Given the description of an element on the screen output the (x, y) to click on. 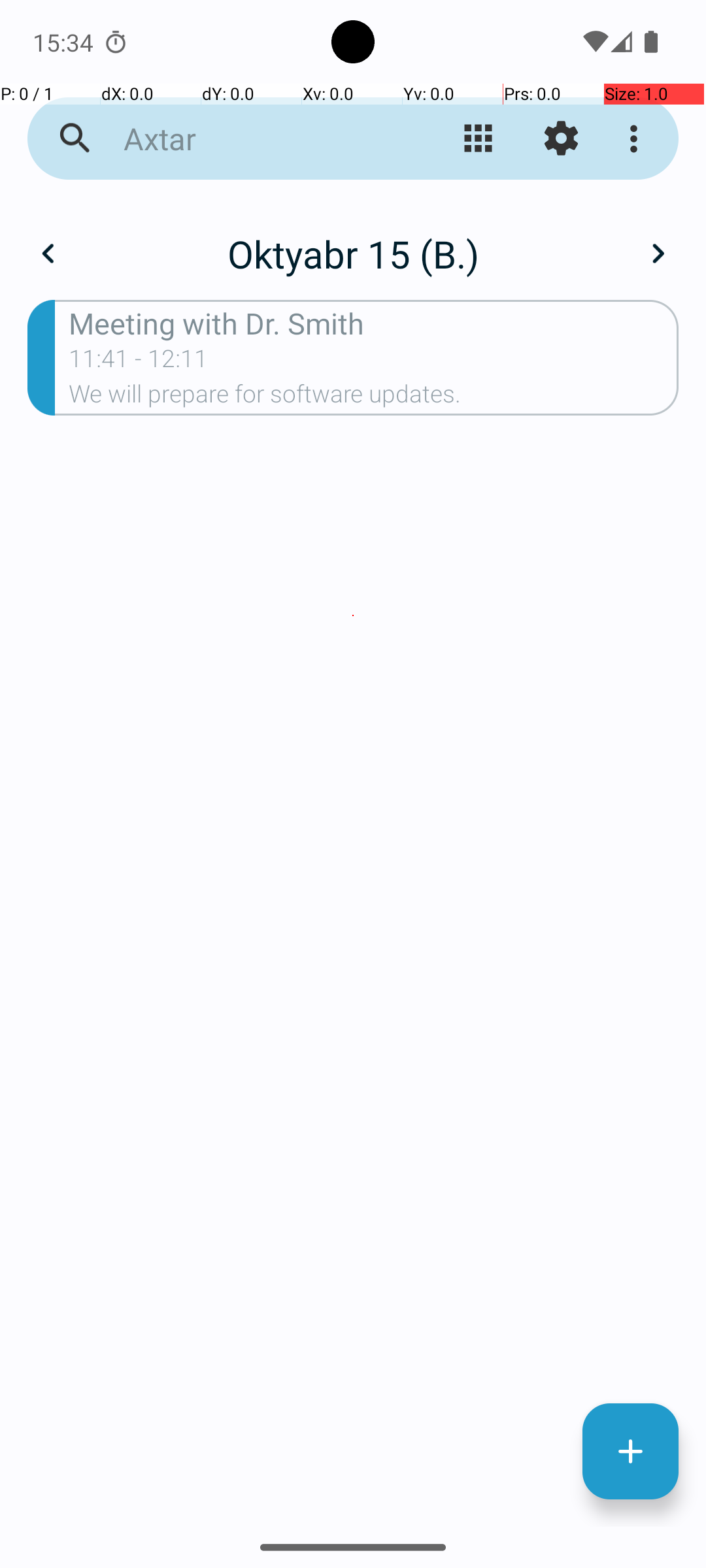
Oktyabr 15 (B.) Element type: android.widget.TextView (352, 253)
11:41 - 12:11 Element type: android.widget.TextView (137, 362)
We will prepare for software updates. Element type: android.widget.TextView (373, 397)
